Given the description of an element on the screen output the (x, y) to click on. 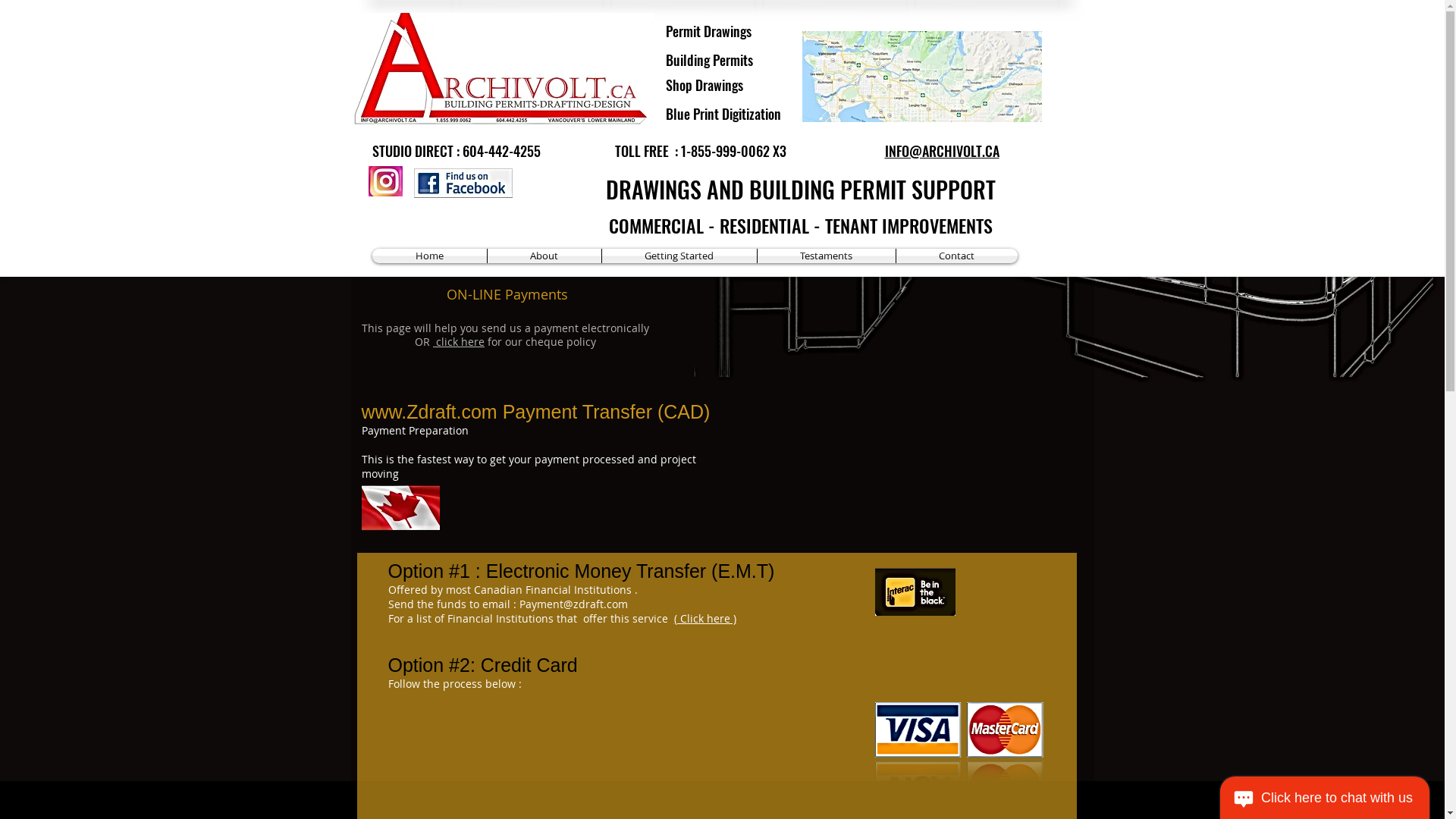
GVRD Vacouver Lower Mainland  Permit Element type: hover (921, 76)
u Element type: text (554, 273)
www.Zdraft.com Element type: text (428, 411)
Home Element type: text (428, 255)
Contact Element type: text (956, 255)
Payment@zdraft.com Element type: text (572, 603)
Archivolt Drafting Drawing Detail  Element type: hover (501, 71)
c Element type: text (372, 170)
About Element type: text (543, 255)
 click here Element type: text (458, 341)
INFO@ARCHIVOLT.CA Element type: text (941, 151)
Facebook Like Element type: hover (543, 186)
Testaments Element type: text (825, 255)
Credit-Cards 2.png Element type: hover (964, 741)
Getting Started Element type: text (679, 255)
( Click here ) Element type: text (704, 618)
